Given the description of an element on the screen output the (x, y) to click on. 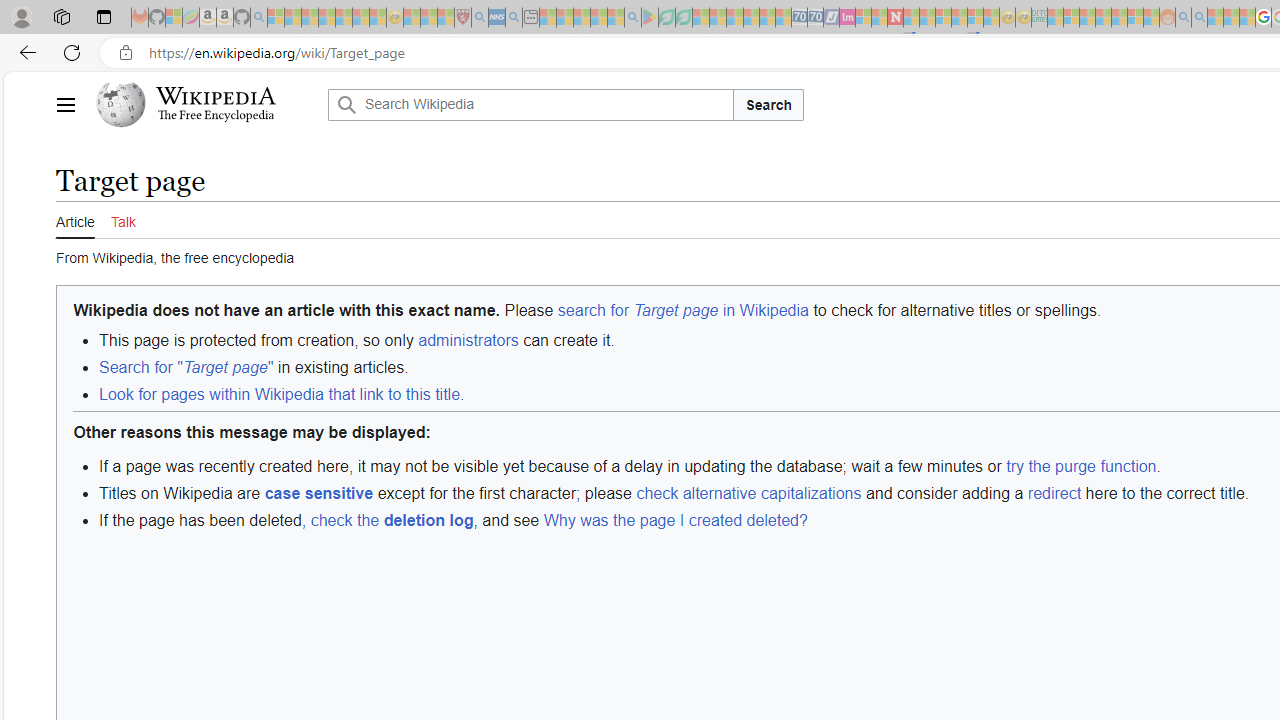
try the purge function (1081, 466)
case sensitive (318, 492)
utah sues federal government - Search - Sleeping (513, 17)
Look for pages within Wikipedia that link to this title (279, 394)
Why was the page I created deleted? (674, 520)
